Given the description of an element on the screen output the (x, y) to click on. 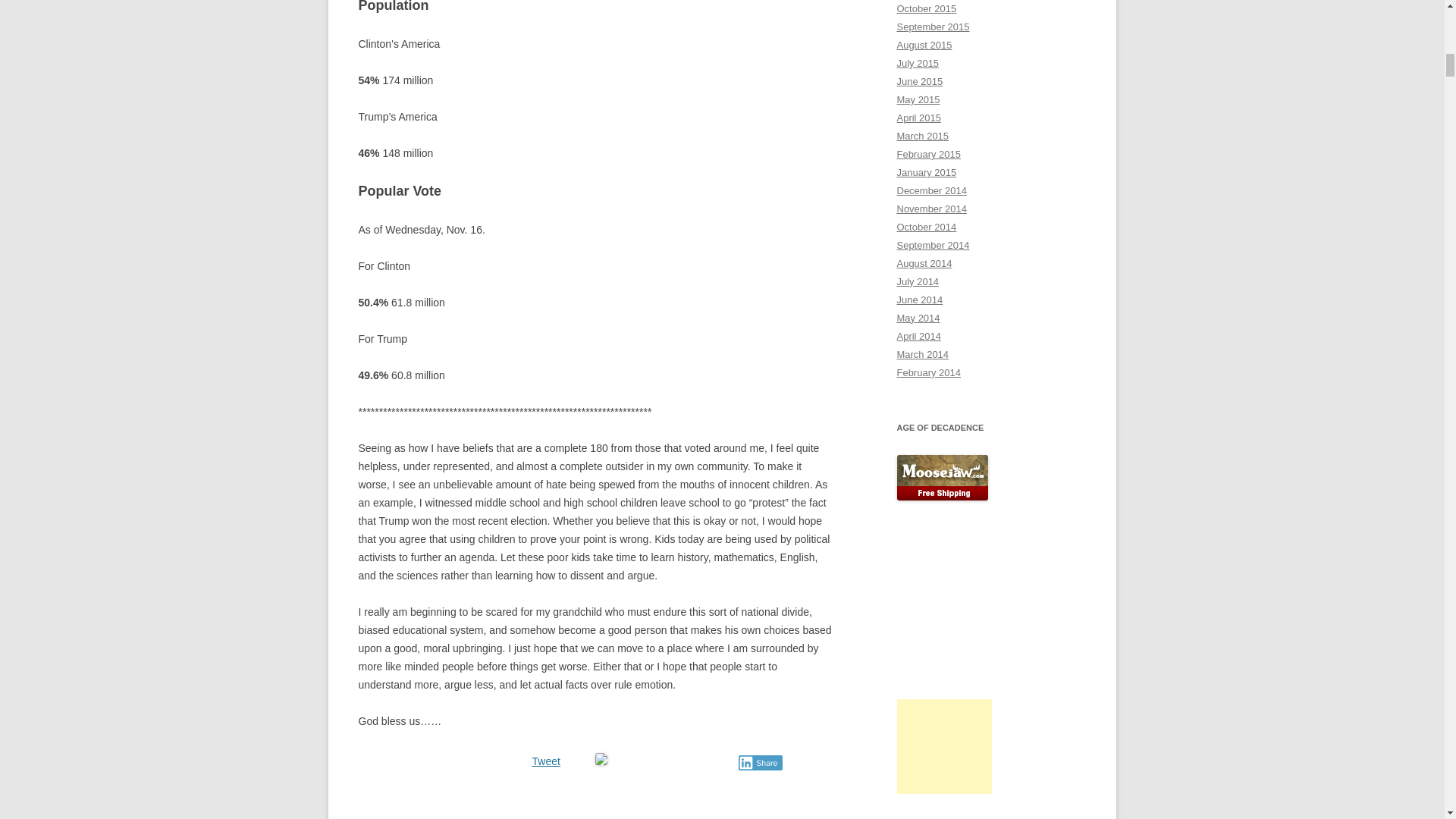
Tweet (546, 761)
Share on Tumblr (672, 759)
Share on Tumblr (672, 759)
Share (760, 762)
